Given the description of an element on the screen output the (x, y) to click on. 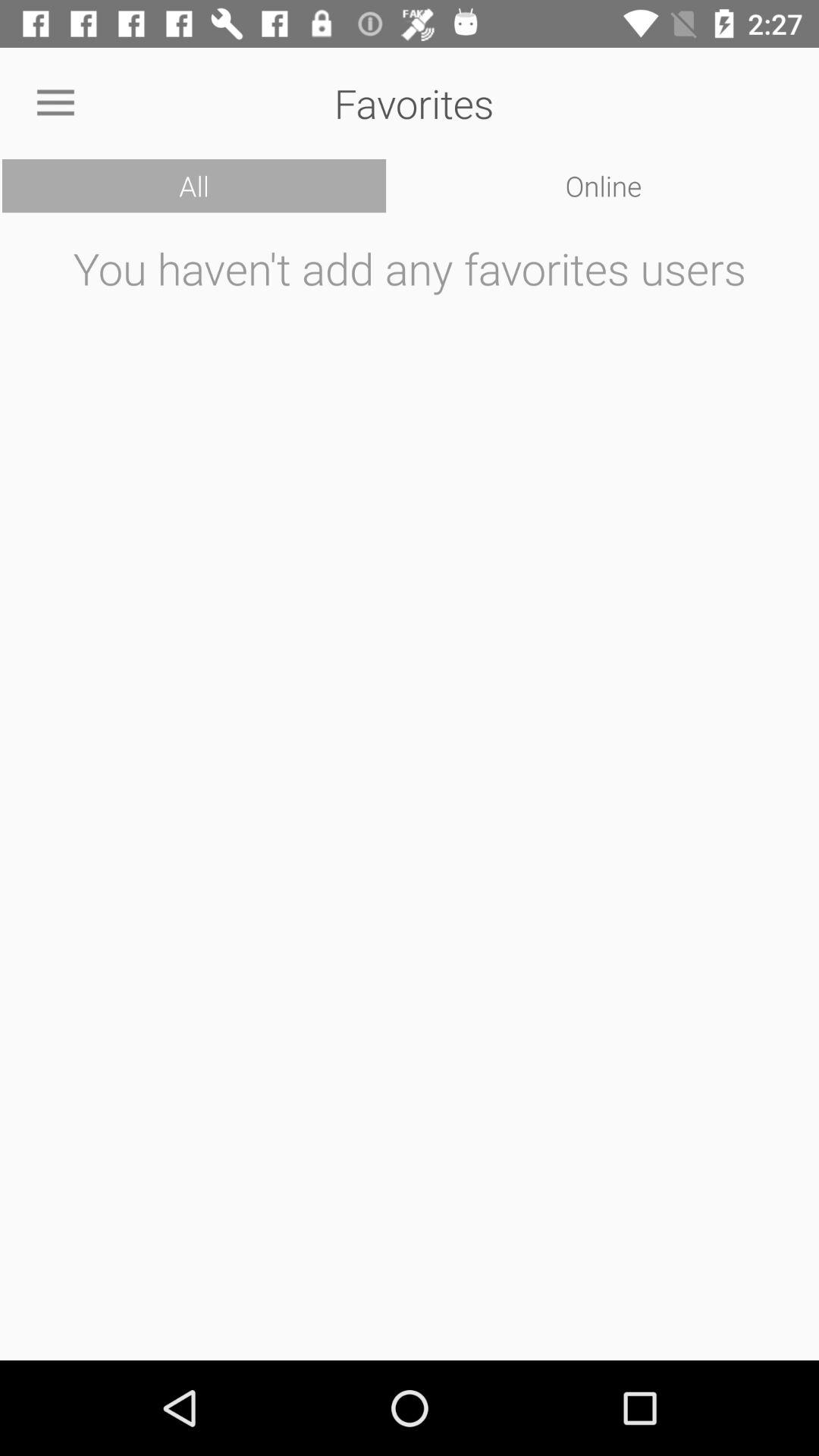
select item at the center (409, 791)
